Given the description of an element on the screen output the (x, y) to click on. 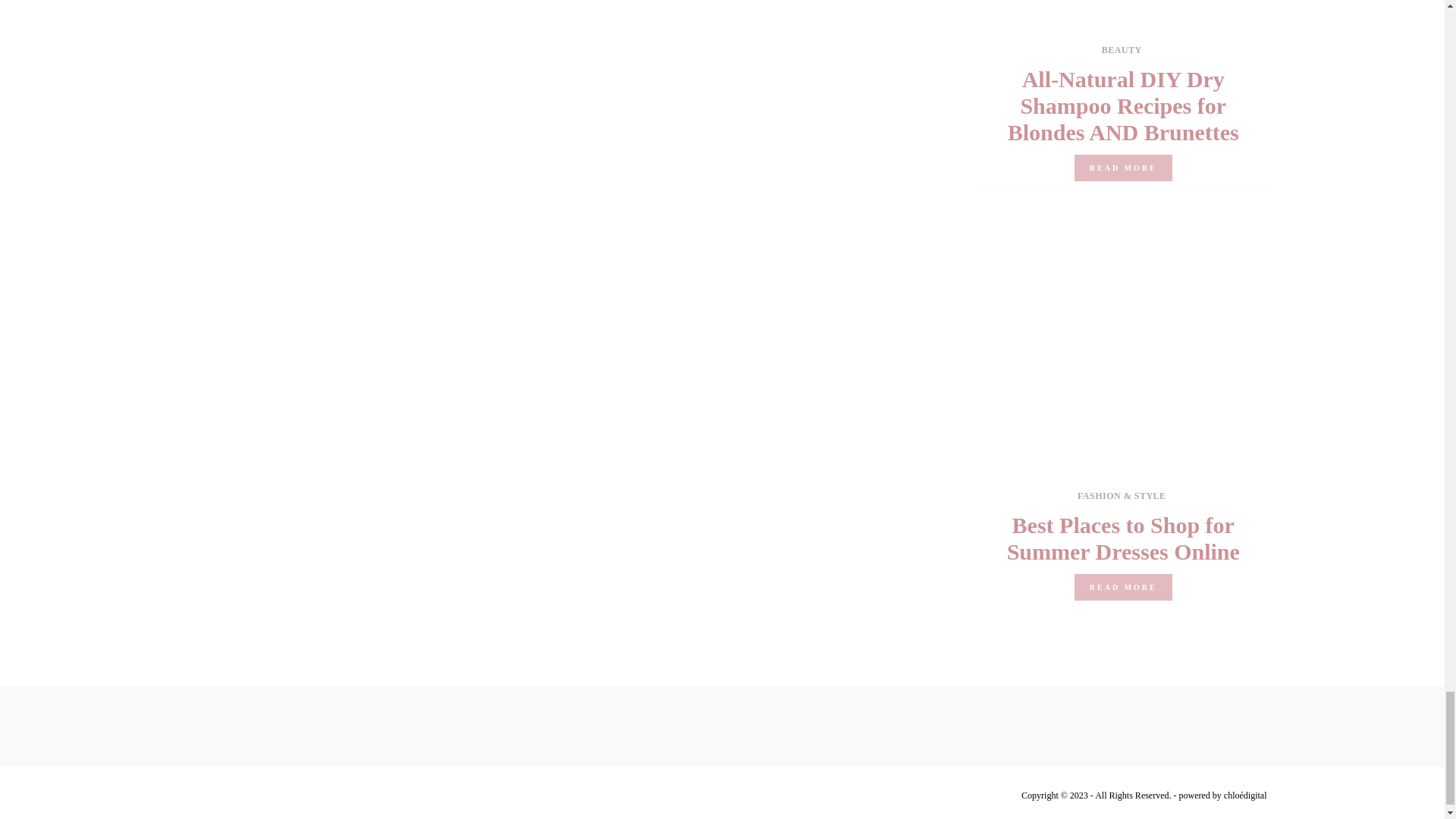
Best Places to Shop for Summer Dresses Online (1123, 538)
